Given the description of an element on the screen output the (x, y) to click on. 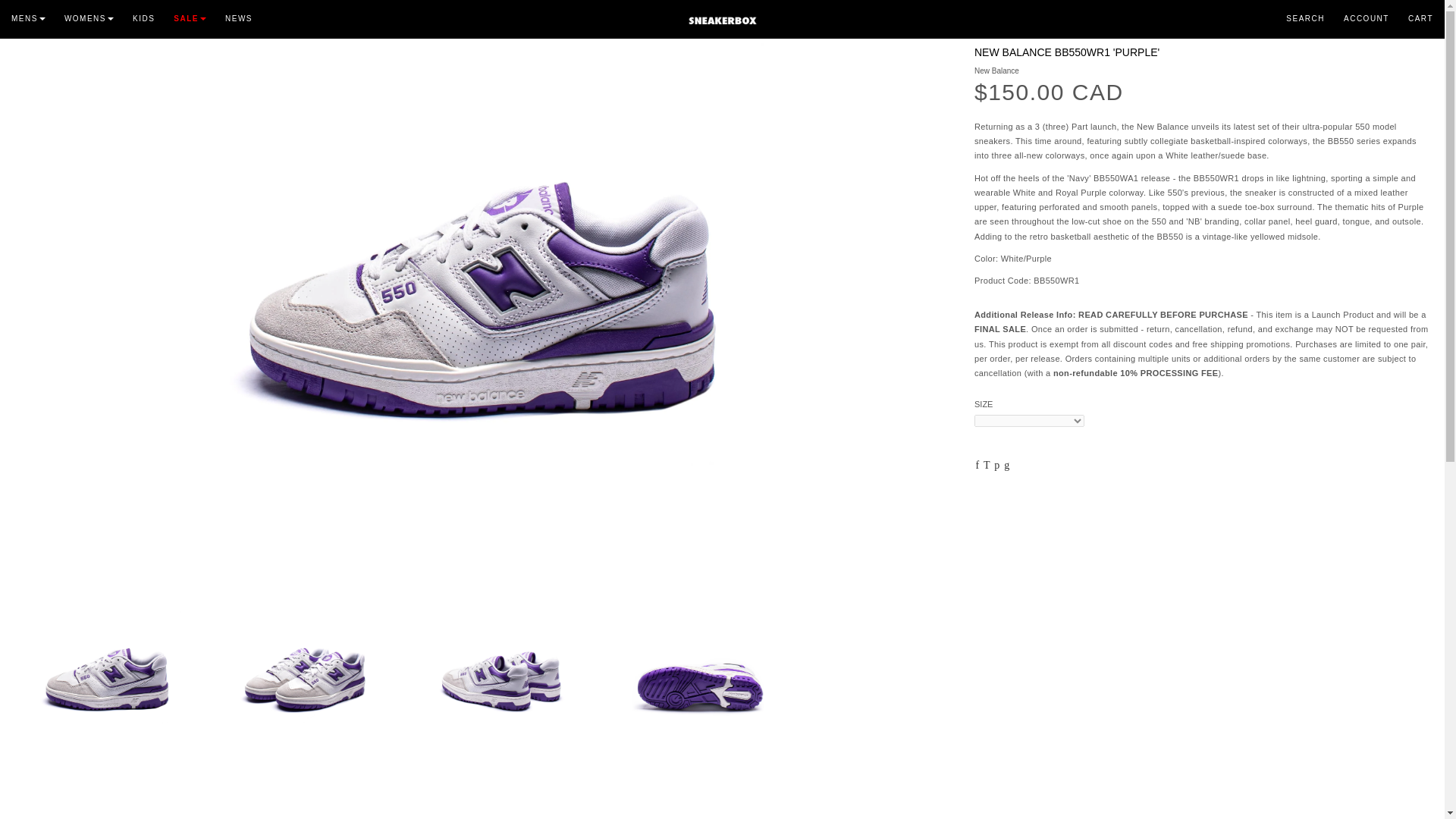
Back to the frontpage (22, 10)
MENS (37, 15)
WOMENS (98, 15)
